Given the description of an element on the screen output the (x, y) to click on. 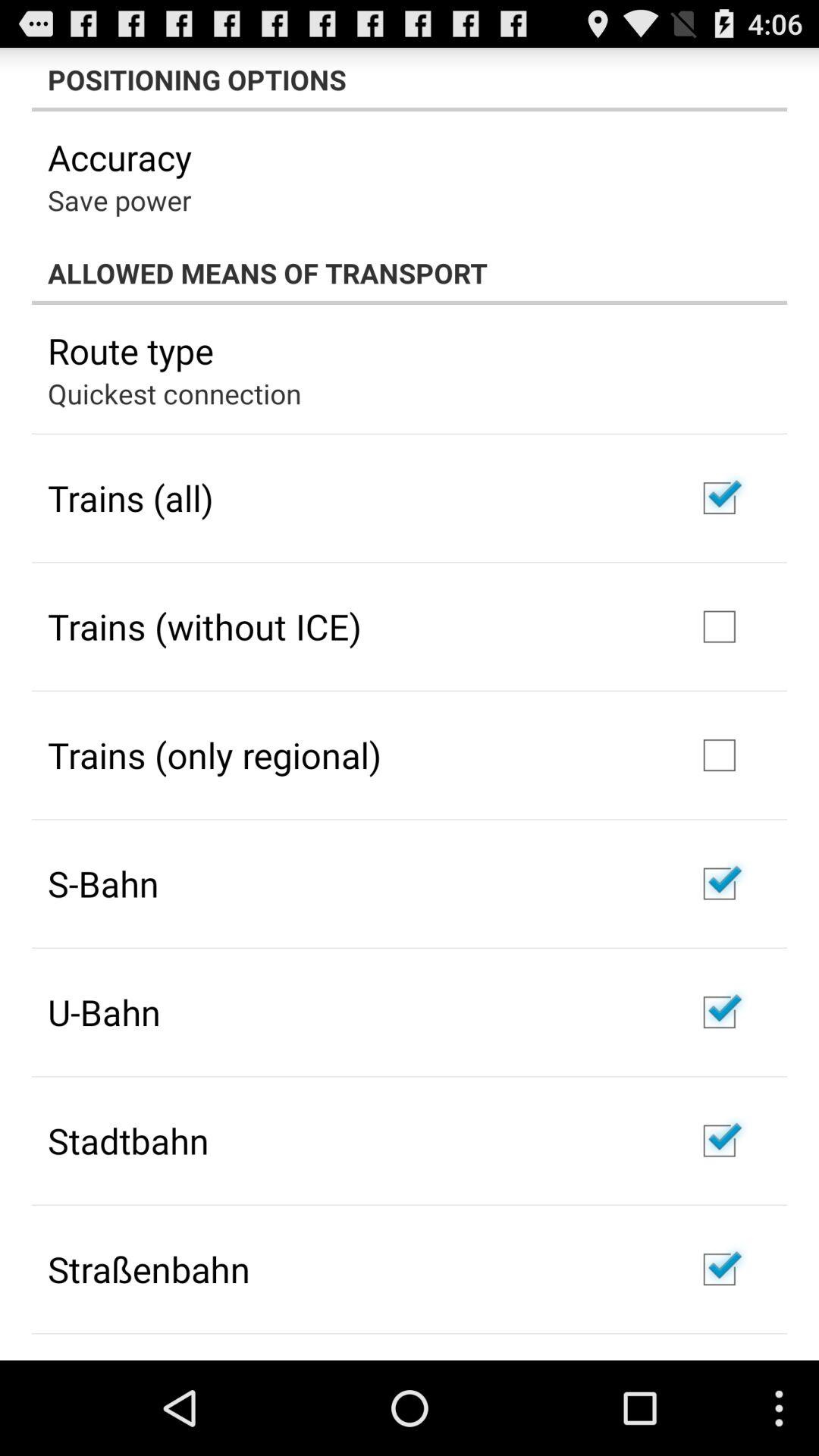
scroll until stadtbahn icon (127, 1140)
